Given the description of an element on the screen output the (x, y) to click on. 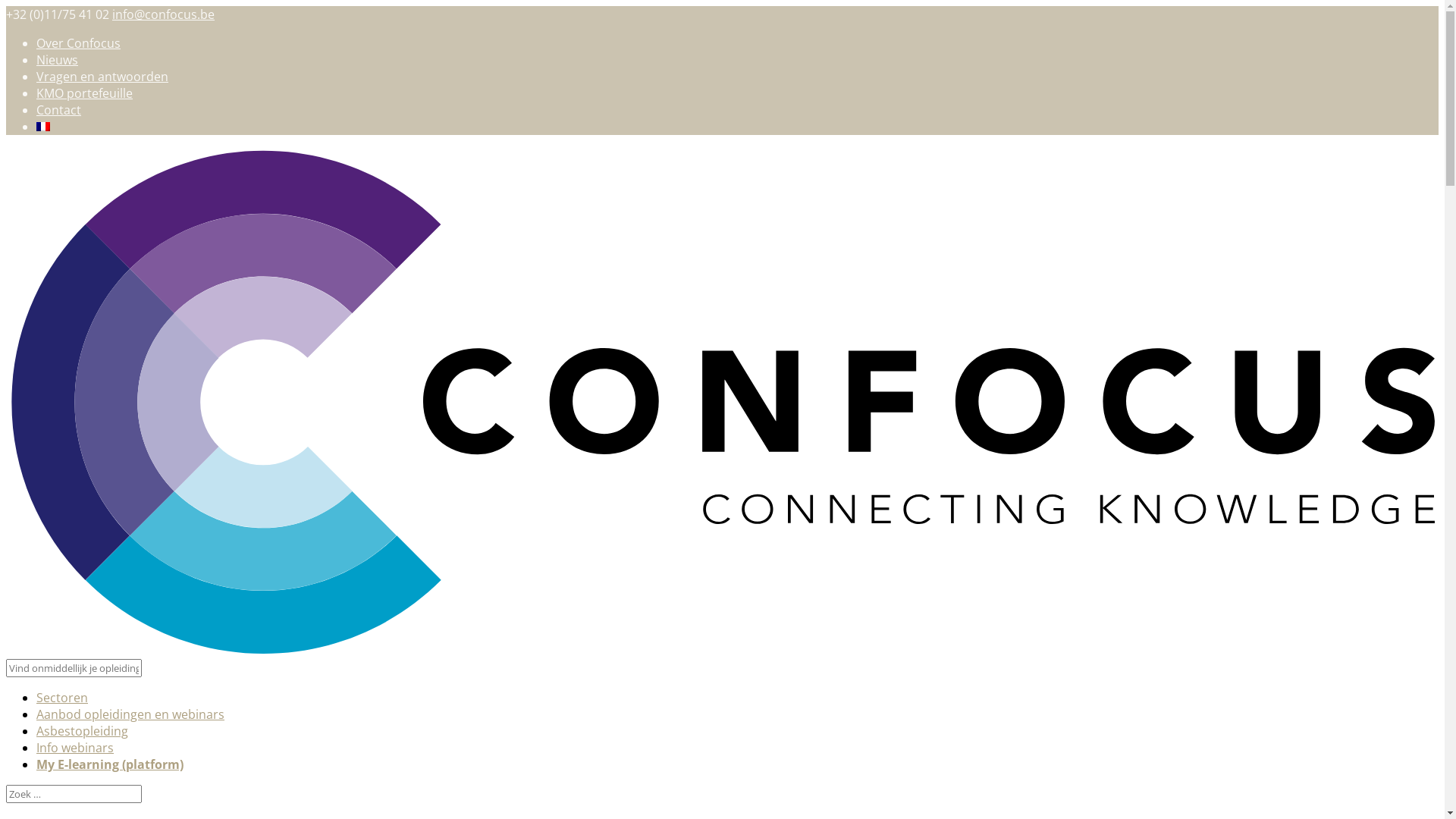
info@confocus.be Element type: text (163, 14)
KMO portefeuille Element type: text (84, 92)
Vragen en antwoorden Element type: text (102, 76)
Asbestopleiding Element type: text (82, 730)
Nieuws Element type: text (57, 59)
Info webinars Element type: text (74, 747)
Zoek naar: Element type: hover (73, 793)
Sectoren Element type: text (61, 697)
Aanbod opleidingen en webinars Element type: text (130, 714)
Over Confocus Element type: text (78, 42)
Contact Element type: text (58, 109)
My E-learning (platform) Element type: text (109, 764)
